Given the description of an element on the screen output the (x, y) to click on. 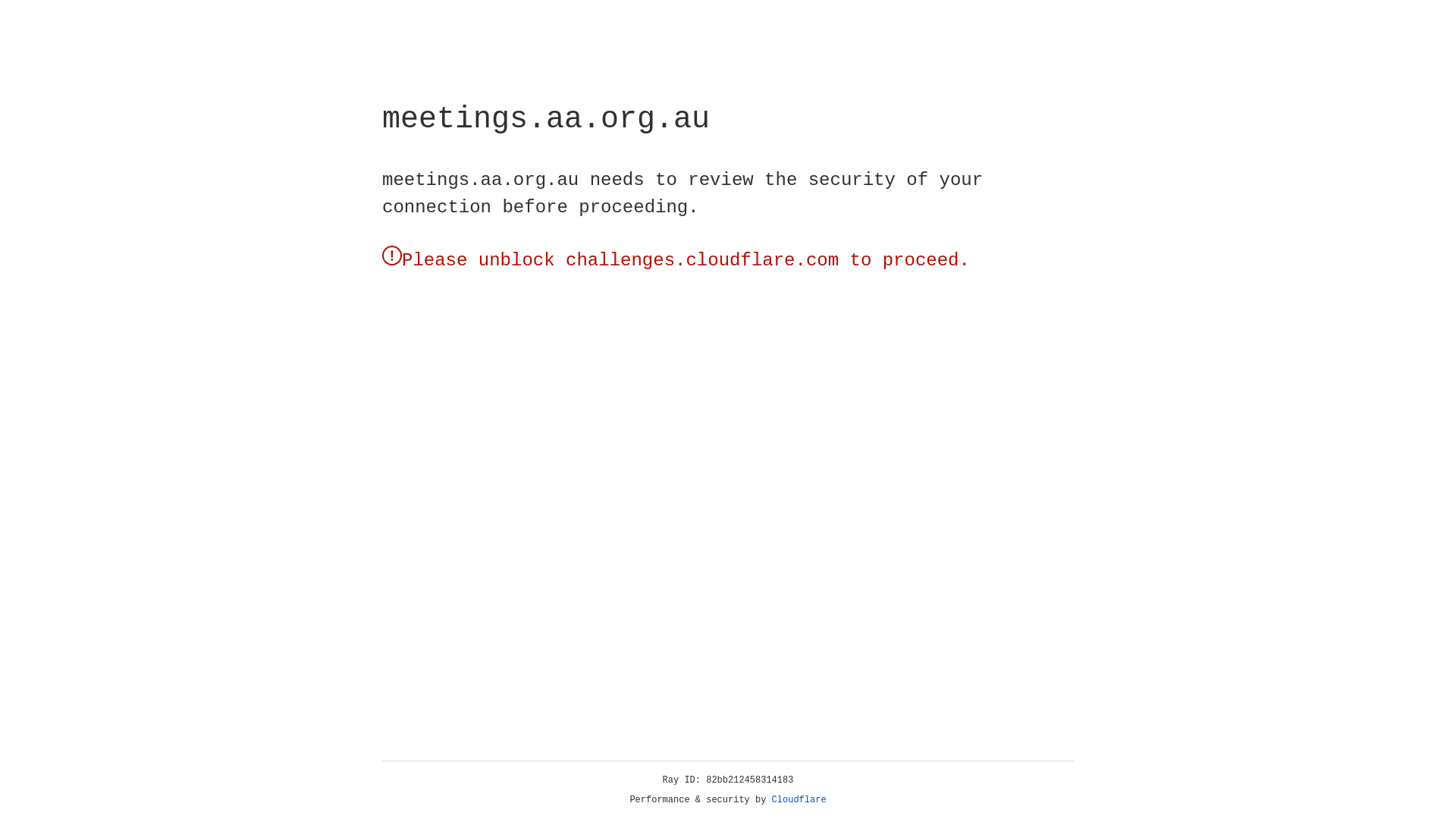
Cloudflare Element type: text (165, 107)
